Given the description of an element on the screen output the (x, y) to click on. 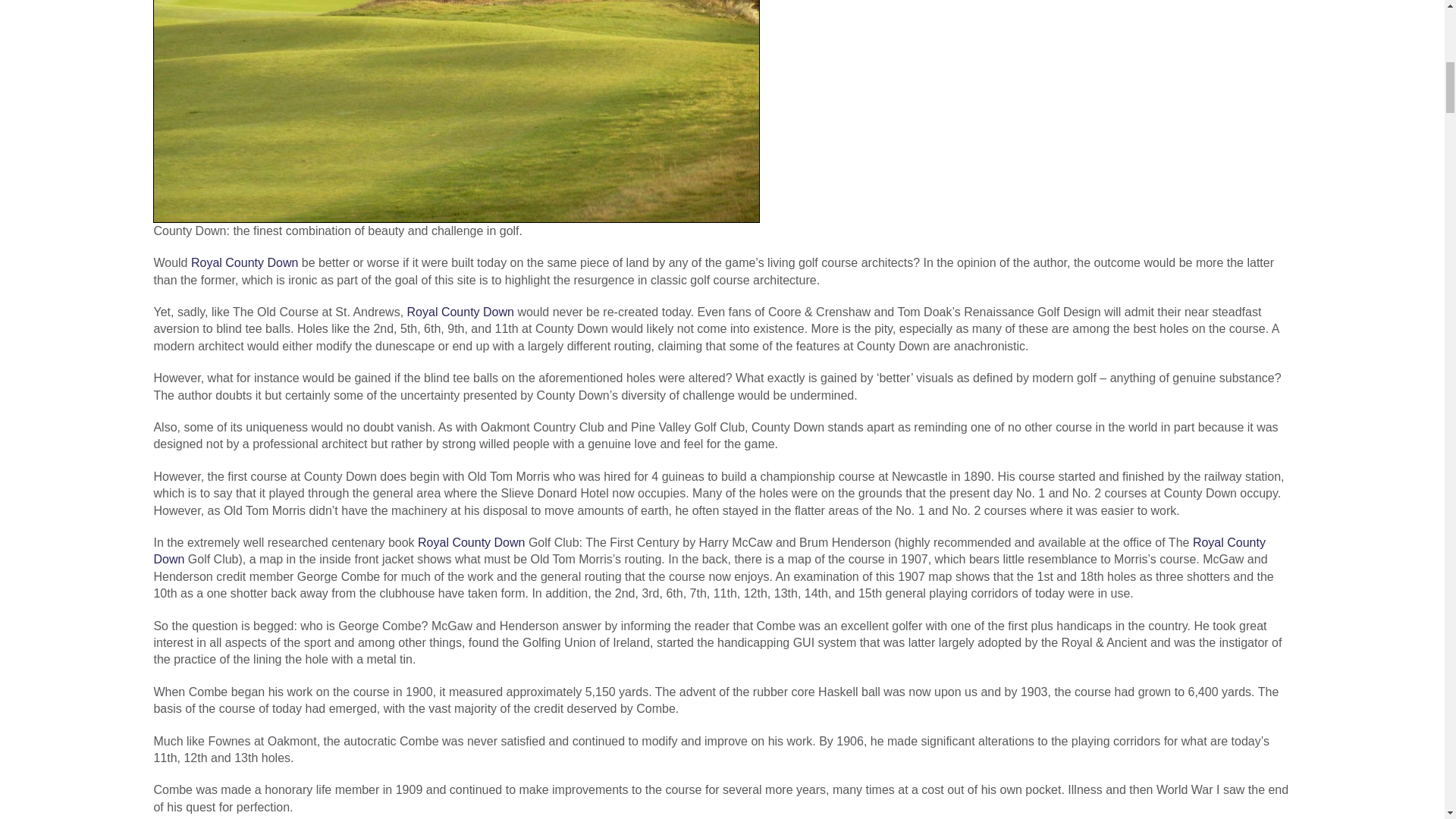
Royal County Down (708, 550)
Royal County Down (460, 311)
Royal County Down (470, 542)
Royal County Down Golf in Northern Ireland (708, 550)
R (470, 542)
Royal County Down (244, 262)
Royal County Down Golf in Northern Ireland (460, 311)
Royal County Down (244, 262)
